Given the description of an element on the screen output the (x, y) to click on. 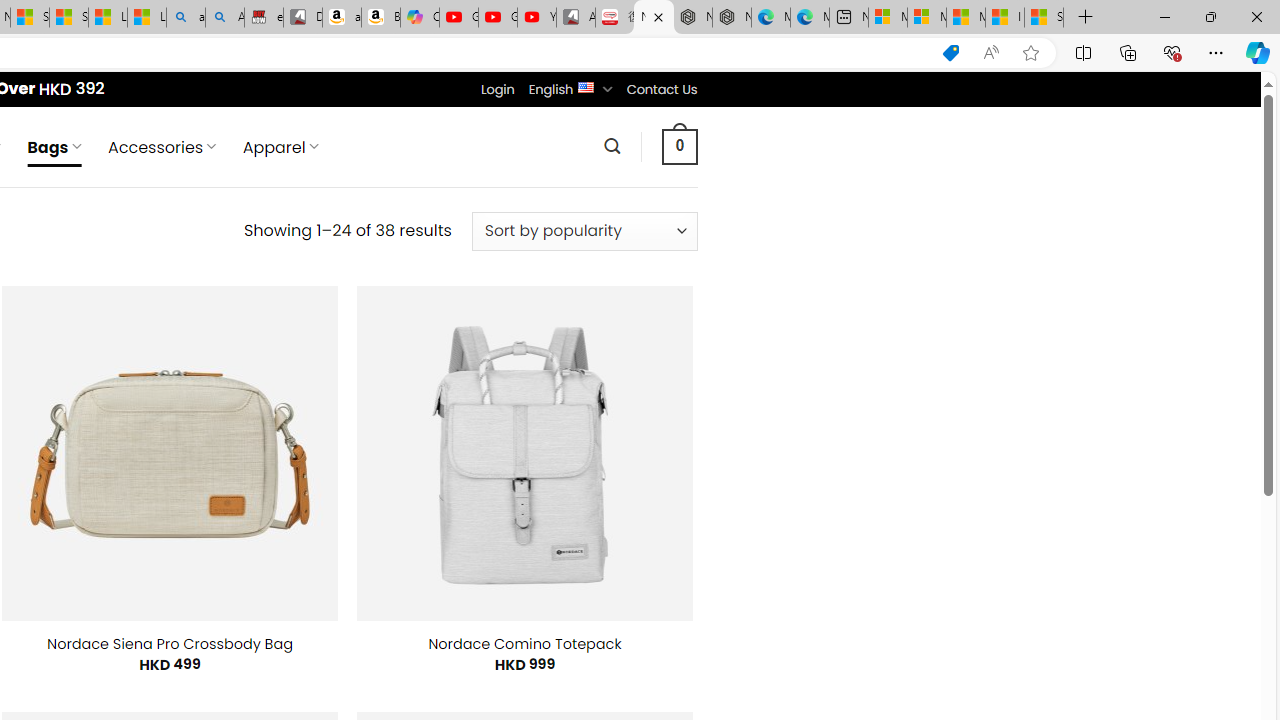
All Cubot phones (575, 17)
Split screen (1083, 52)
English (586, 86)
Microsoft Start (966, 17)
